Given the description of an element on the screen output the (x, y) to click on. 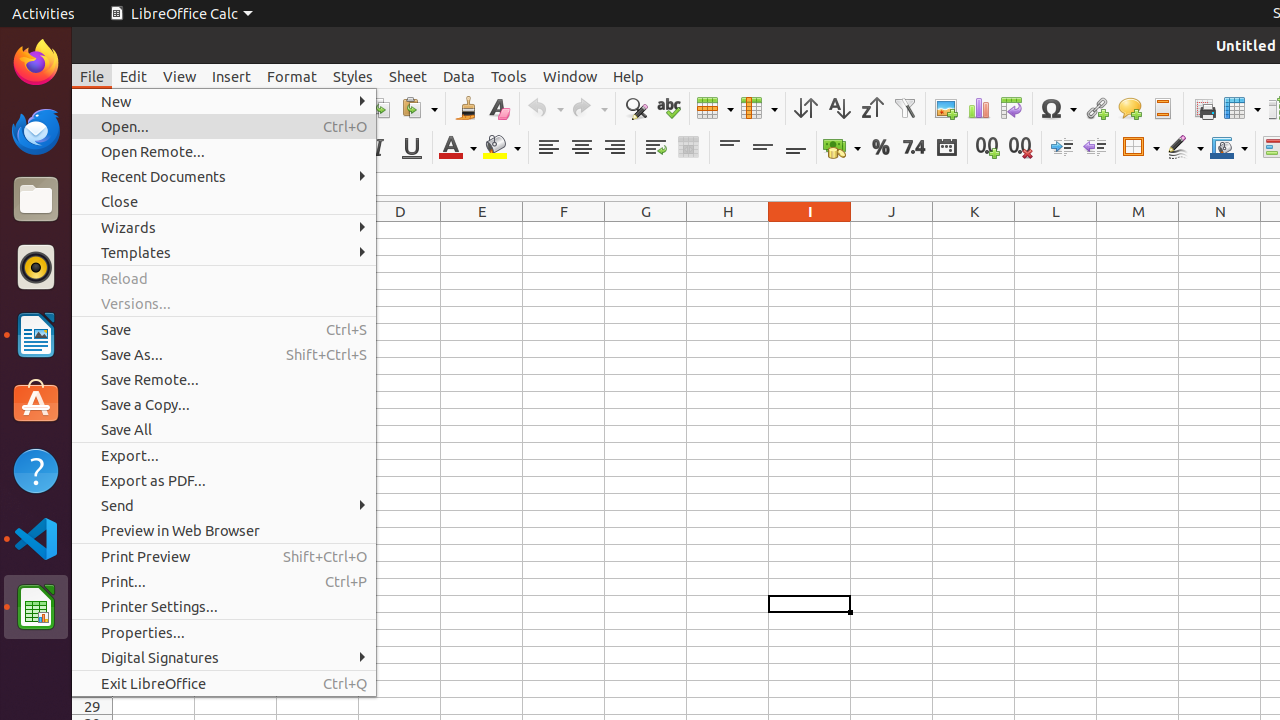
Wizards Element type: menu (224, 227)
Print Area Element type: push-button (1203, 108)
Save As... Element type: menu-item (224, 354)
Align Center Element type: push-button (581, 147)
Center Vertically Element type: push-button (762, 147)
